Given the description of an element on the screen output the (x, y) to click on. 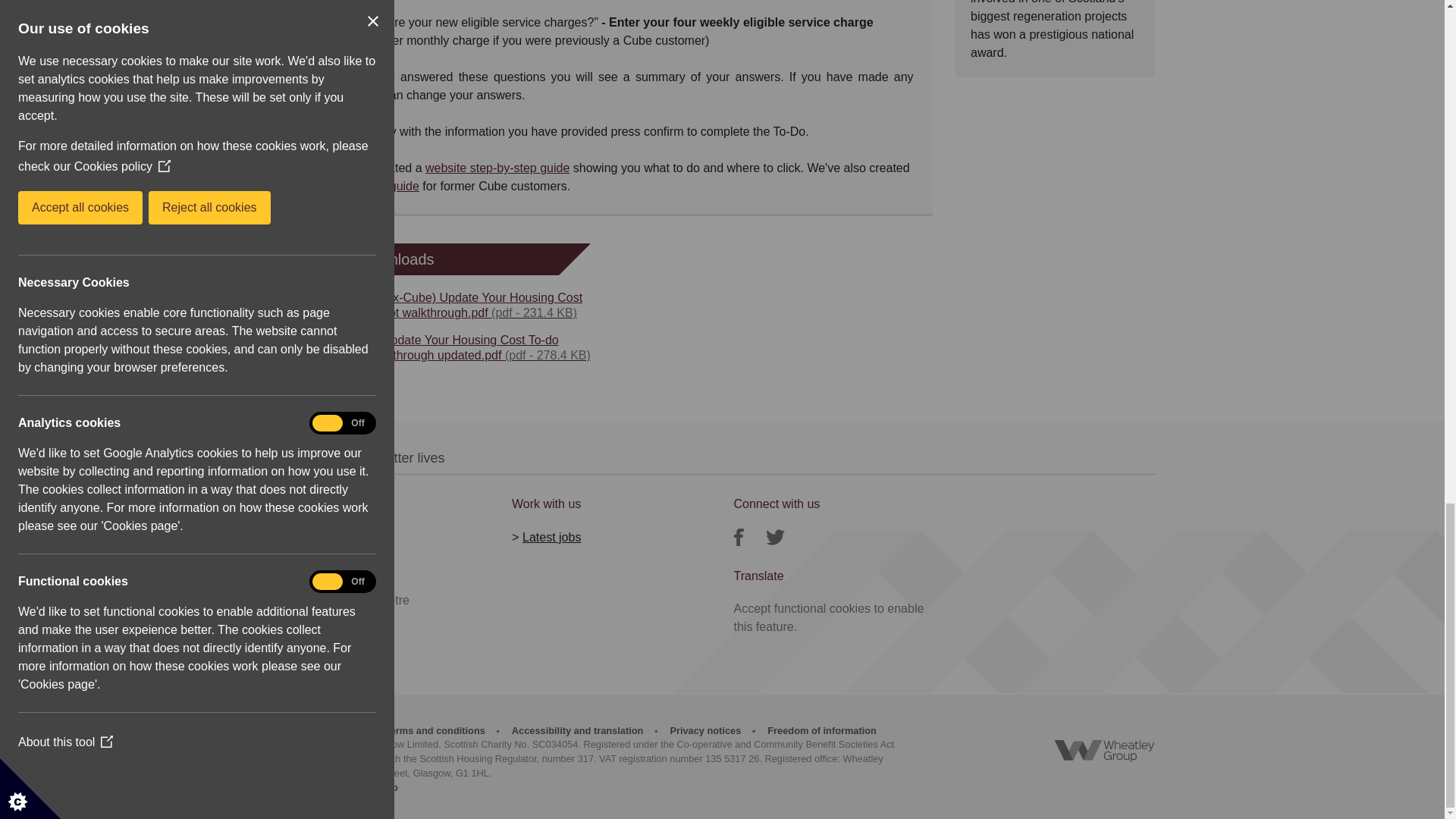
Cube step-by-step guide (368, 185)
Update your housing cost step-by-step (497, 167)
